Given the description of an element on the screen output the (x, y) to click on. 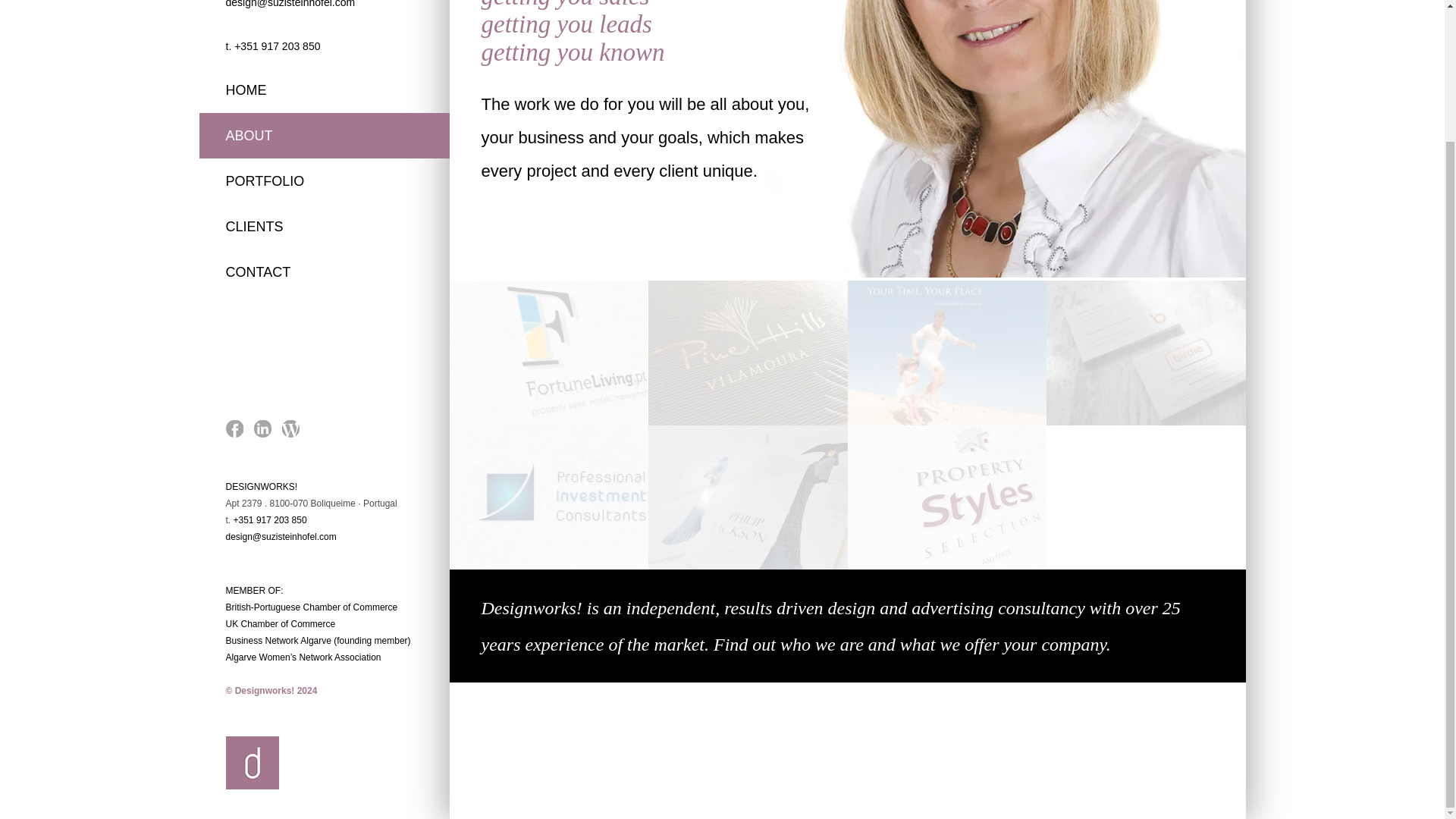
UK Chamber of Commerce (280, 624)
ABOUT (323, 135)
HOME (323, 90)
Follow us on Facebook (234, 432)
CONTACT (323, 271)
British-Portuguese Chamber of Commerce (311, 606)
Follow us on Wordpress (290, 432)
Follow us on Linkedin (261, 432)
